Given the description of an element on the screen output the (x, y) to click on. 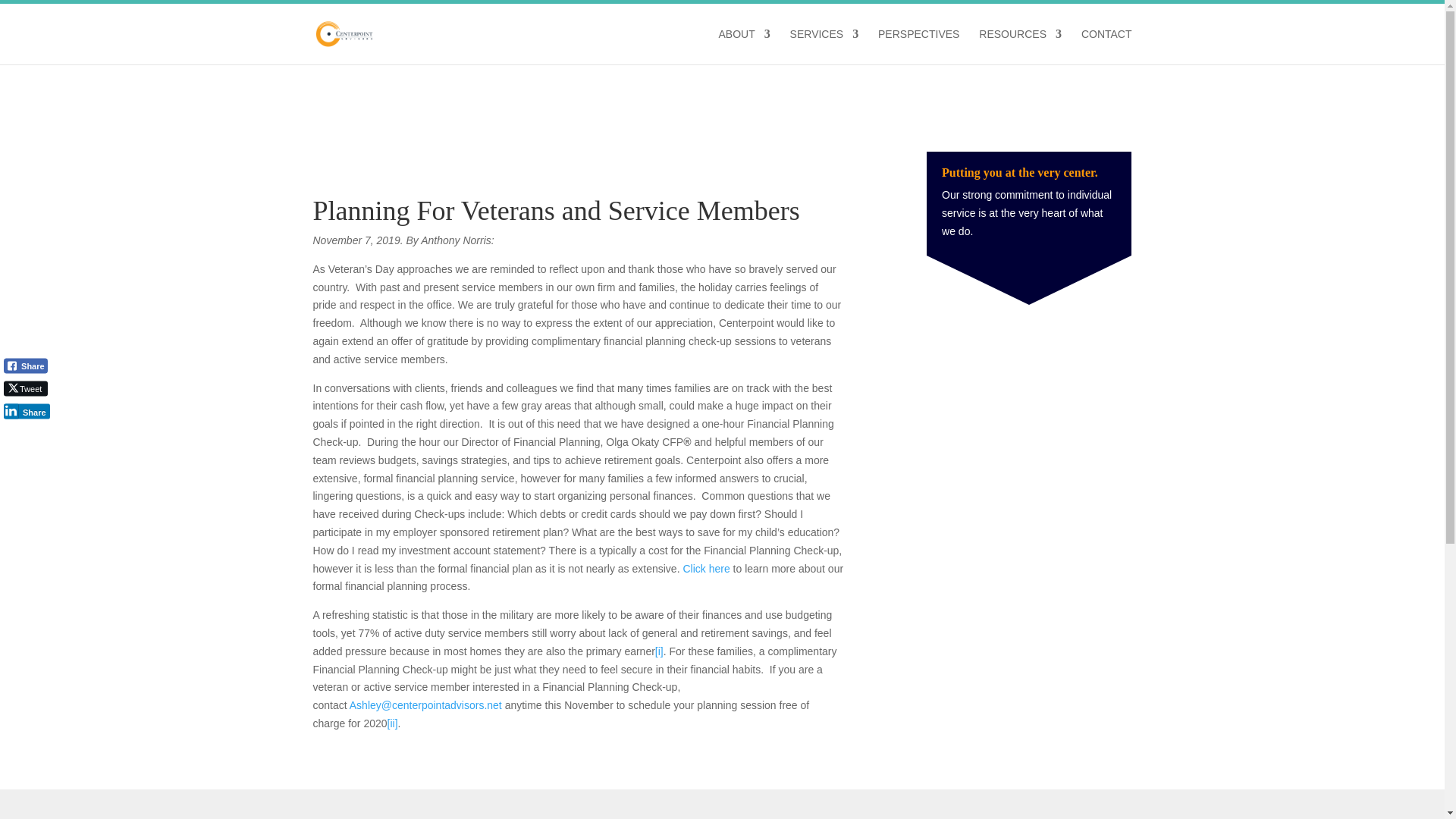
SERVICES (824, 46)
ABOUT (743, 46)
Share (26, 365)
CONTACT (1106, 46)
Click here (705, 568)
Tweet (26, 387)
PERSPECTIVES (918, 46)
RESOURCES (1019, 46)
